Given the description of an element on the screen output the (x, y) to click on. 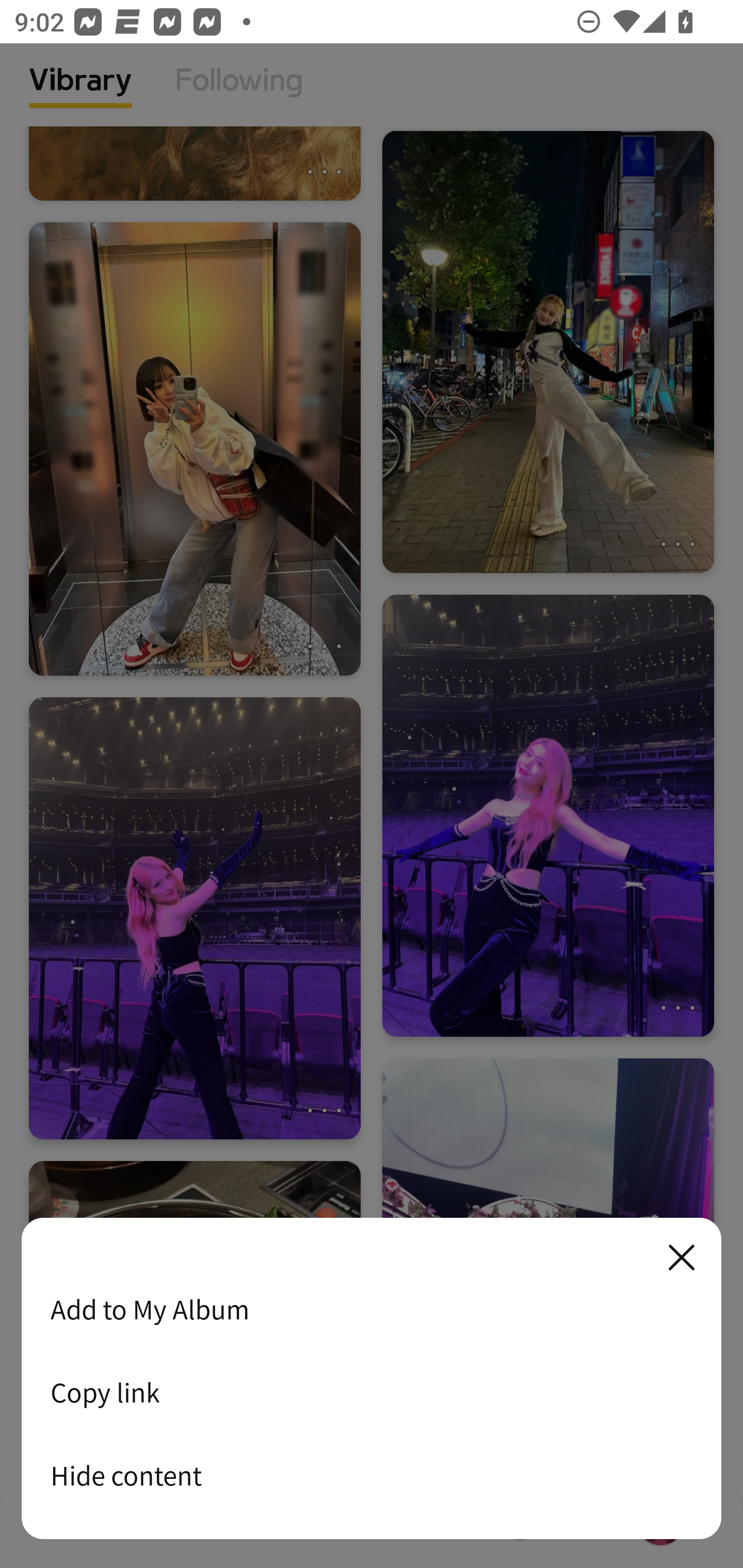
Add to My Album Copy link Hide content (371, 1378)
Add to My Album (371, 1308)
Copy link (371, 1391)
Hide content (371, 1474)
